Given the description of an element on the screen output the (x, y) to click on. 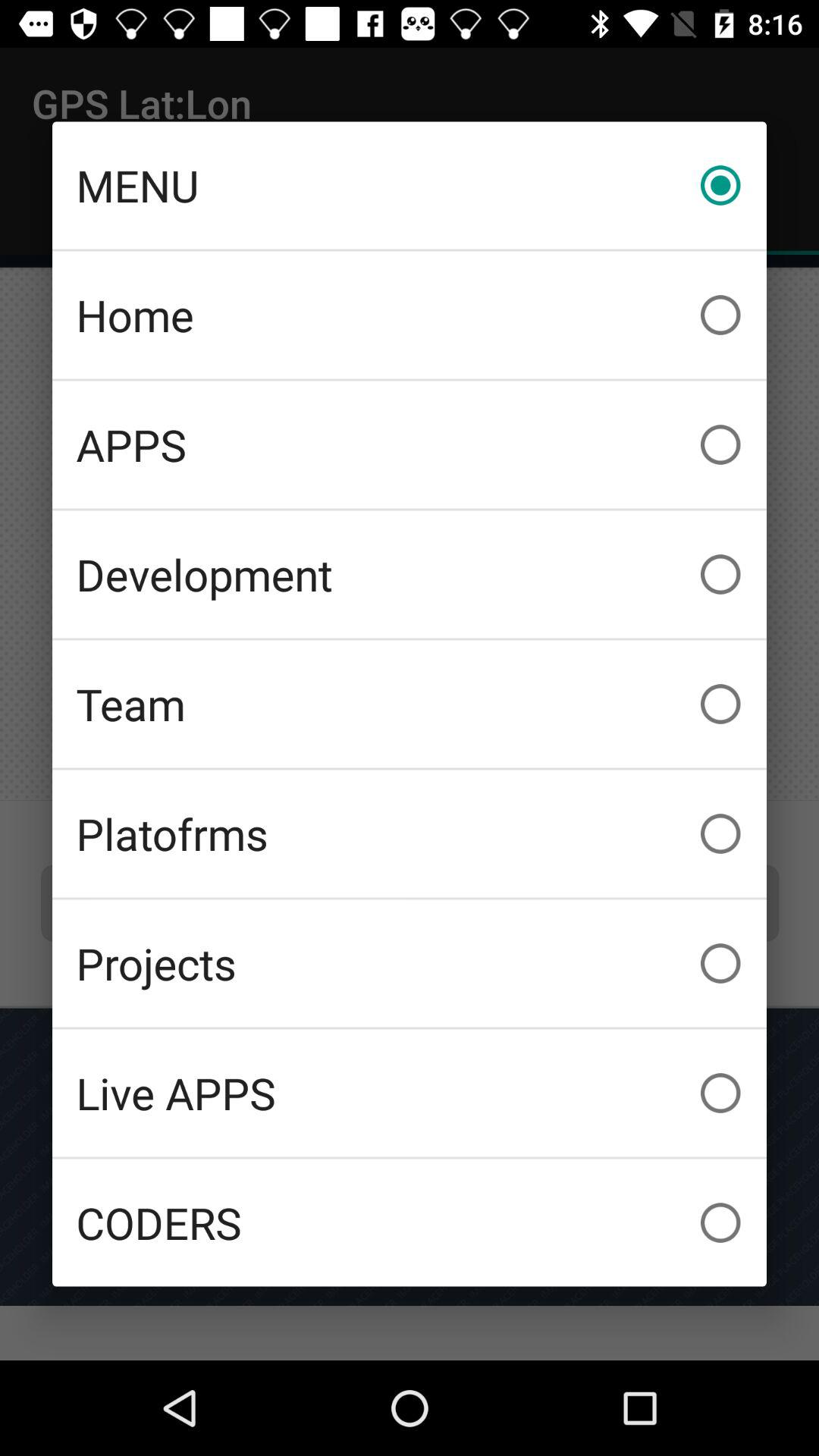
jump until projects item (409, 963)
